Given the description of an element on the screen output the (x, y) to click on. 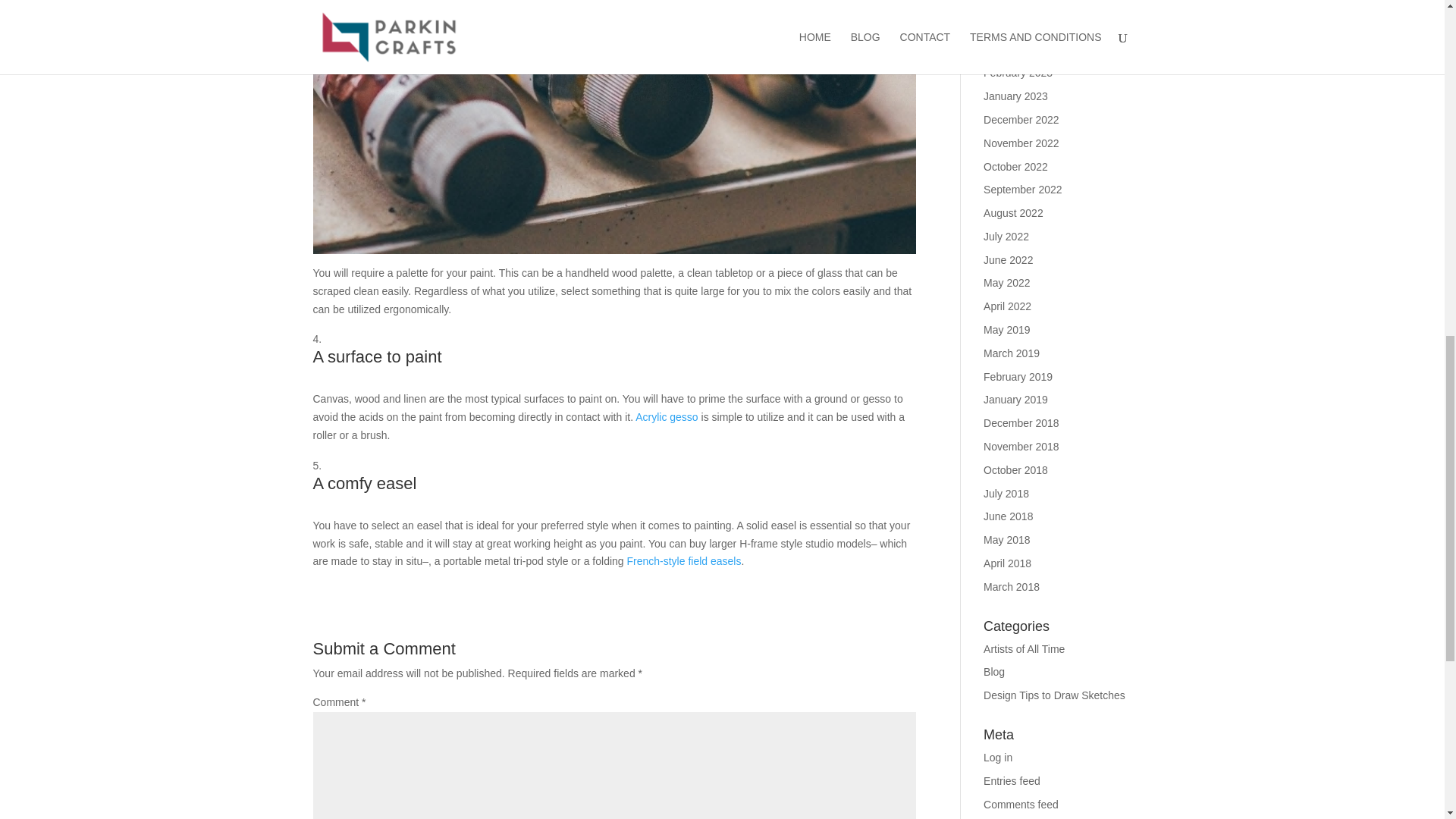
March 2023 (1011, 50)
April 2023 (1007, 26)
November 2022 (1021, 143)
December 2022 (1021, 119)
February 2023 (1018, 72)
January 2023 (1016, 96)
Acrylic gesso (665, 417)
May 2023 (1006, 4)
French-style field easels (683, 561)
October 2022 (1016, 166)
